Given the description of an element on the screen output the (x, y) to click on. 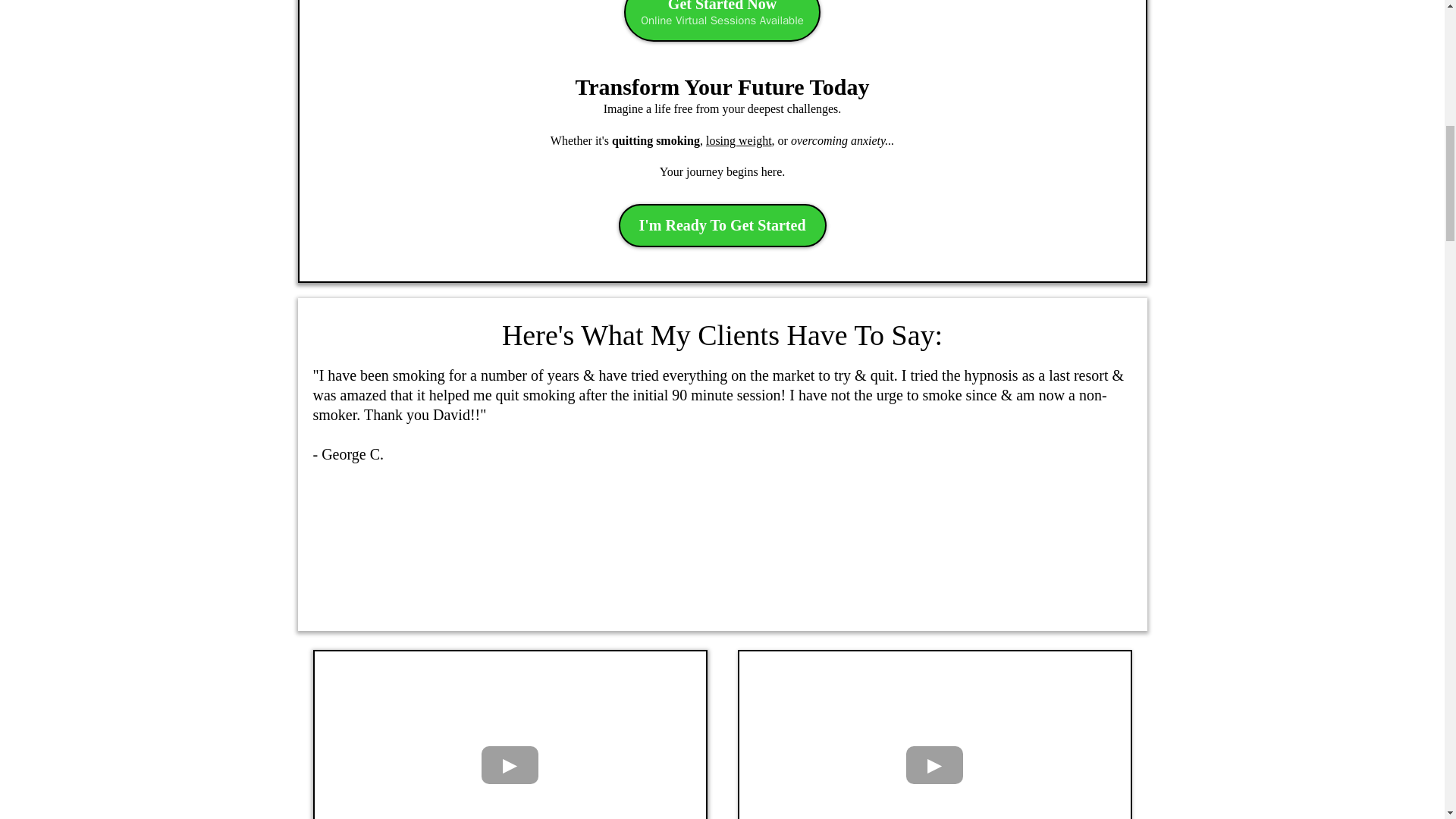
I'm Ready To Get Started (722, 20)
